Given the description of an element on the screen output the (x, y) to click on. 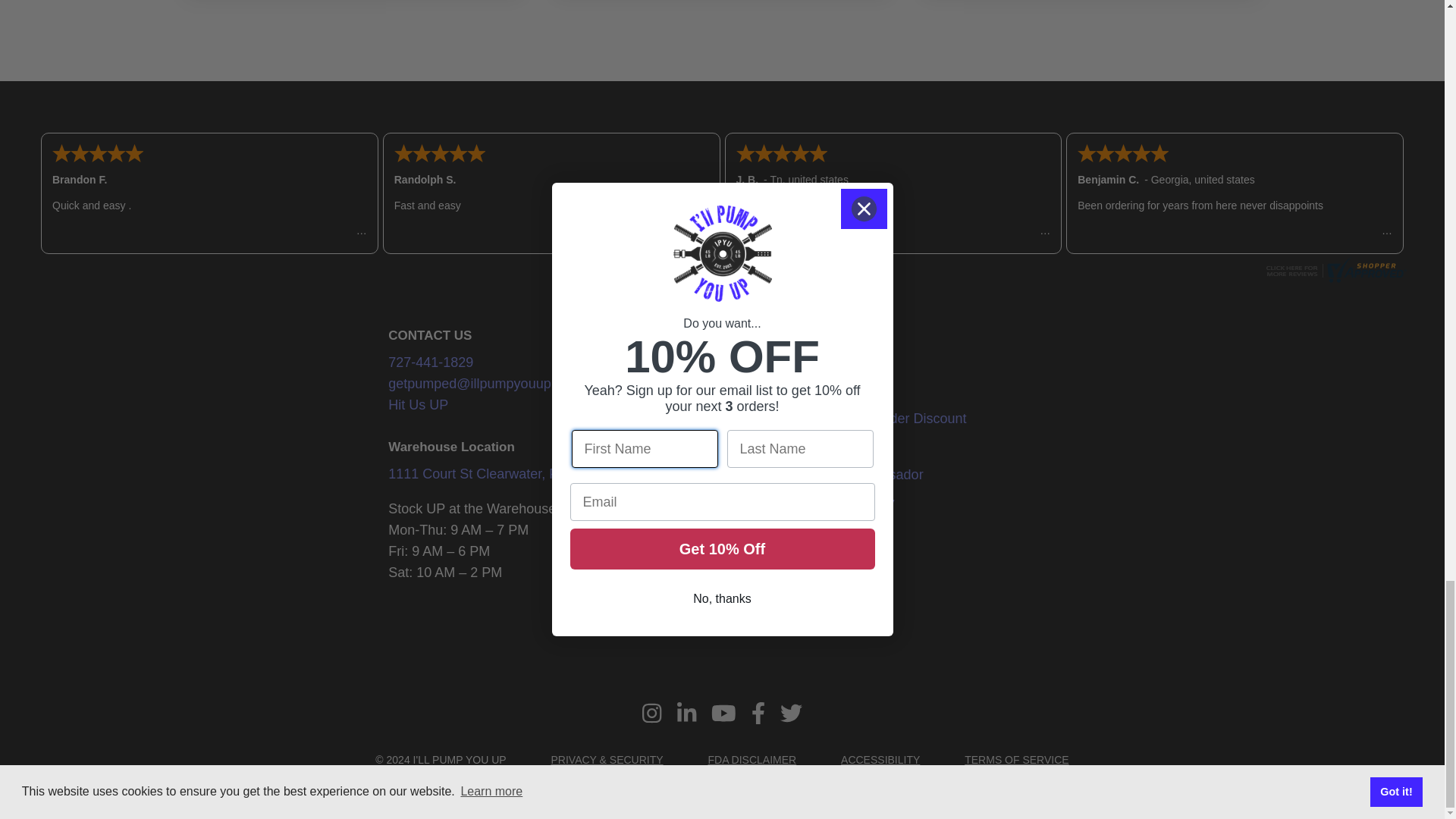
Reviews (1334, 278)
